Given the description of an element on the screen output the (x, y) to click on. 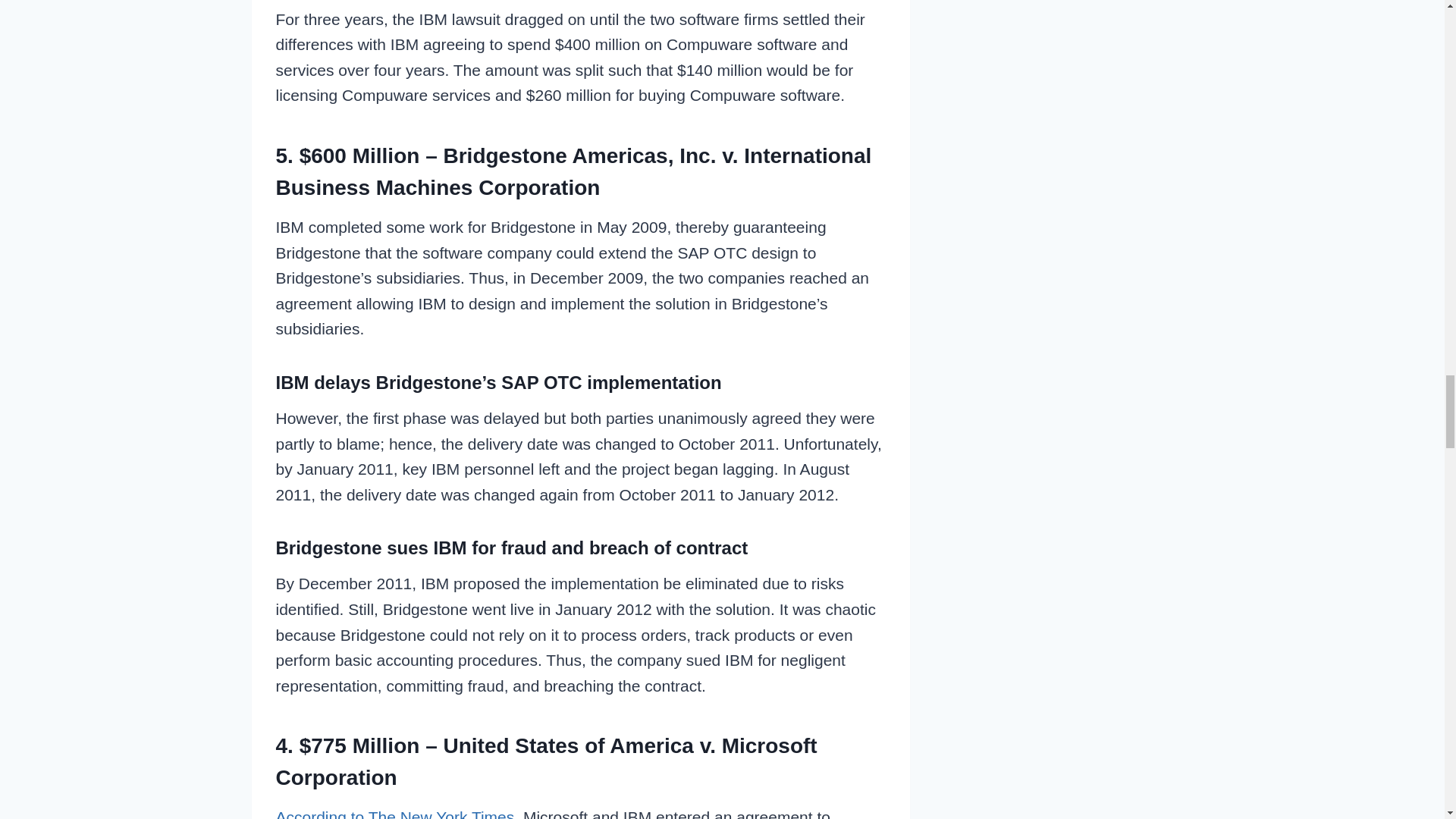
According to The New York Times (395, 813)
